Given the description of an element on the screen output the (x, y) to click on. 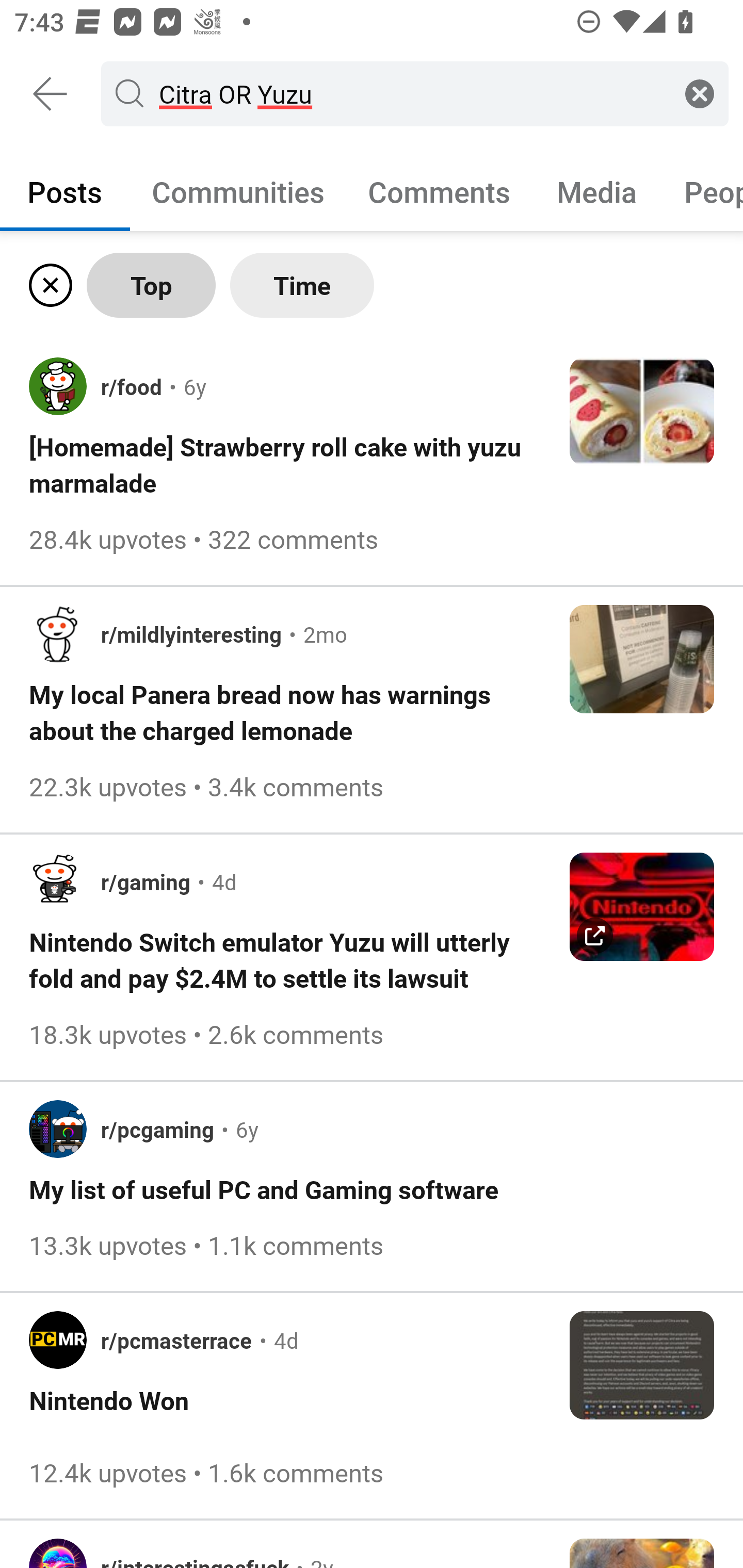
Back (50, 93)
Citra OR Yuzu (410, 93)
Clear search (699, 93)
Communities (238, 191)
Comments (438, 191)
Media (596, 191)
Clear active filters (46, 285)
Top Sort by Top (150, 285)
Time Filter Time by All time (301, 285)
